Given the description of an element on the screen output the (x, y) to click on. 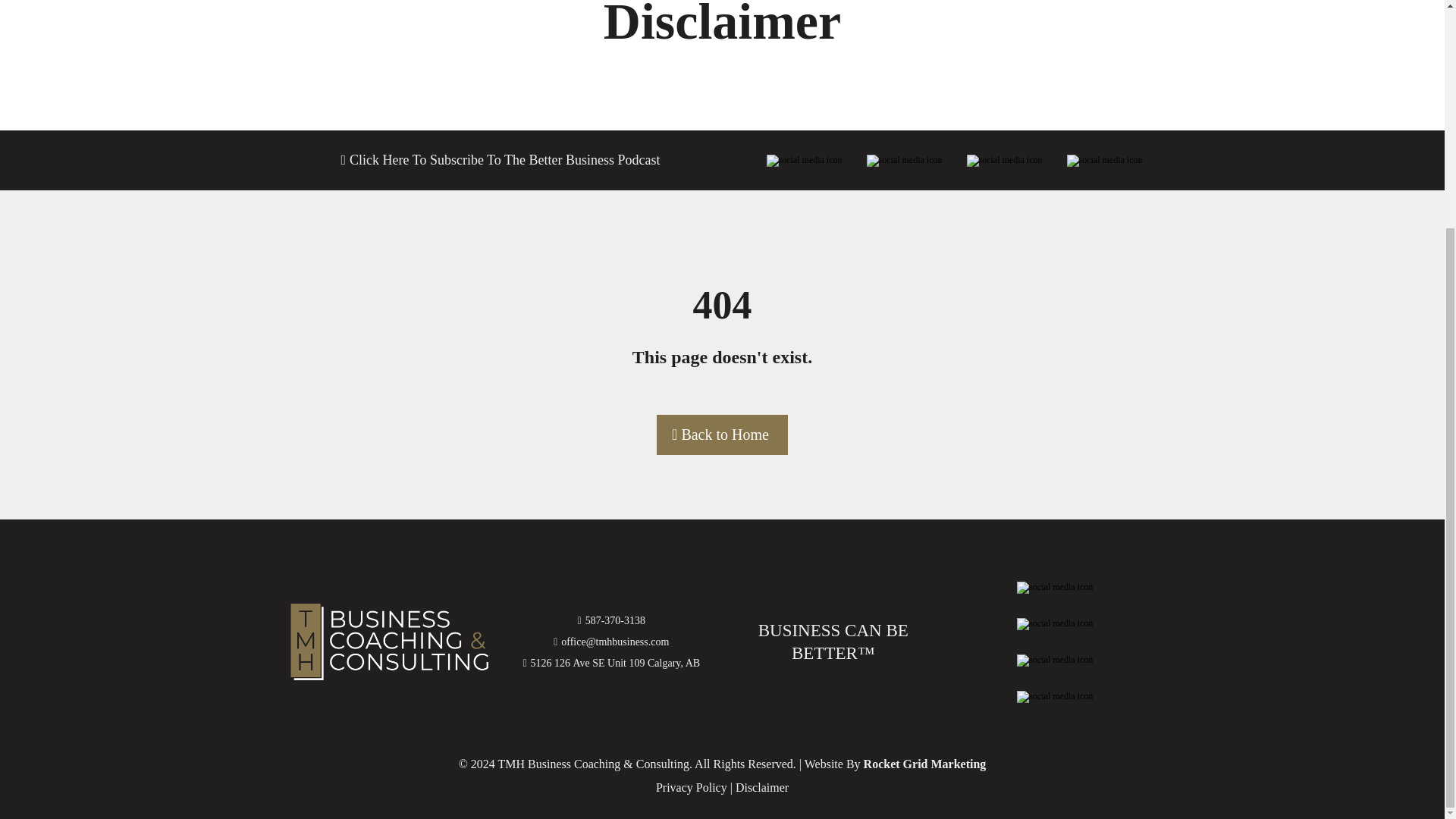
Privacy Policy (691, 787)
Click Here To Subscribe To The Better Business Podcast (504, 159)
Disclaimer (762, 787)
Back to Home (721, 434)
Rocket Grid Marketing (925, 763)
